Given the description of an element on the screen output the (x, y) to click on. 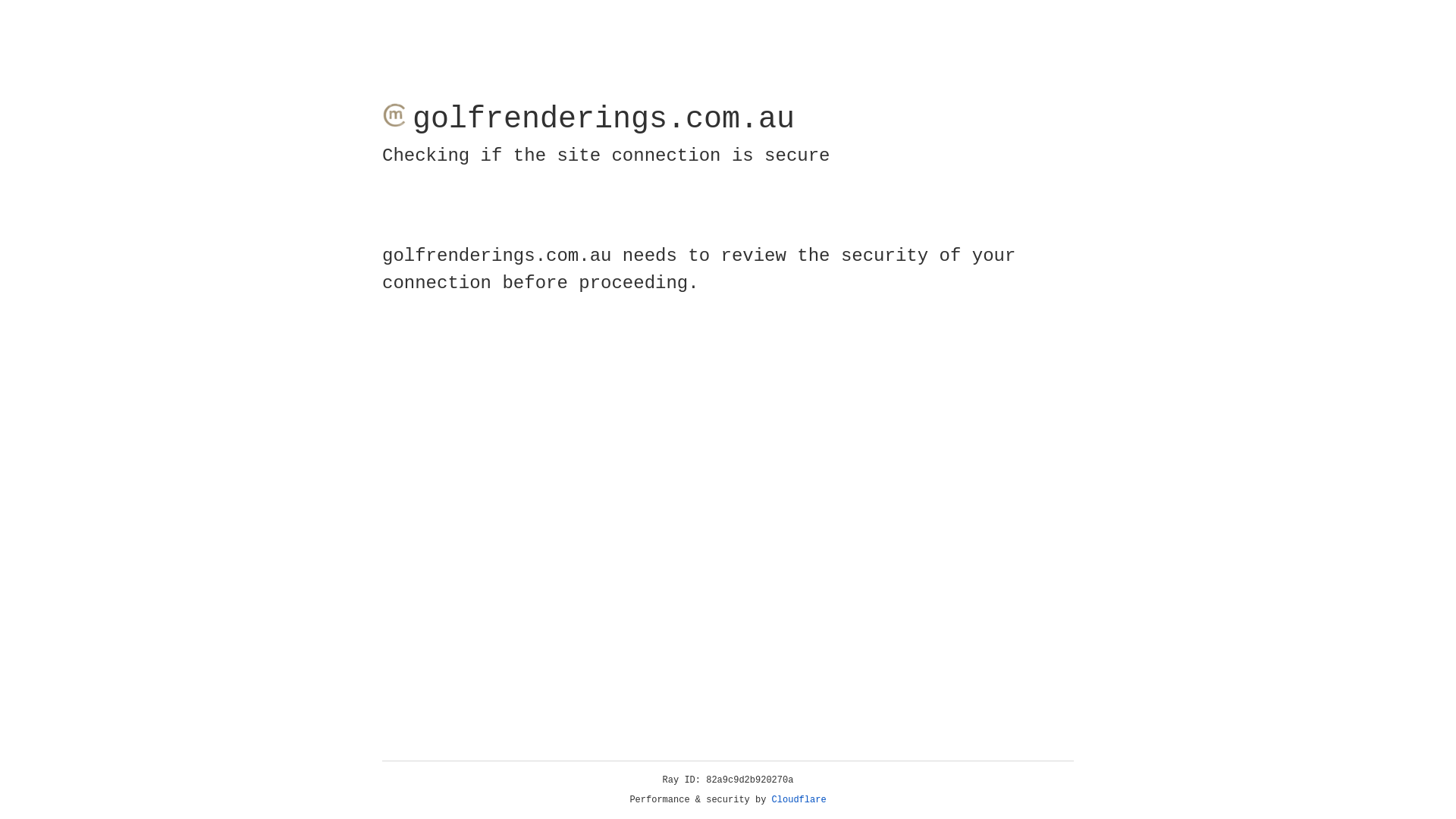
Cloudflare Element type: text (798, 799)
